Given the description of an element on the screen output the (x, y) to click on. 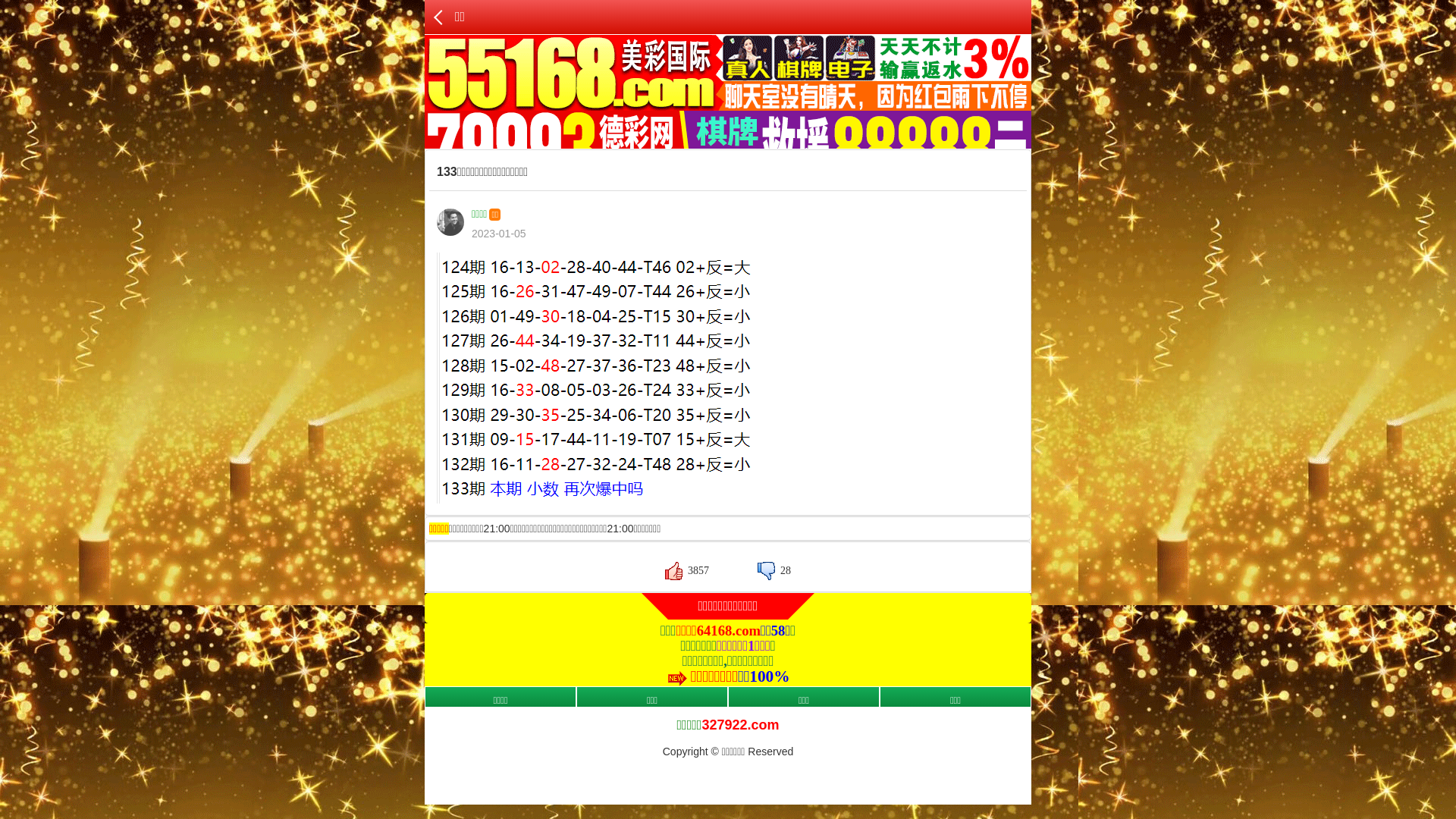
28 Element type: text (773, 570)
3857 Element type: text (687, 570)
